Given the description of an element on the screen output the (x, y) to click on. 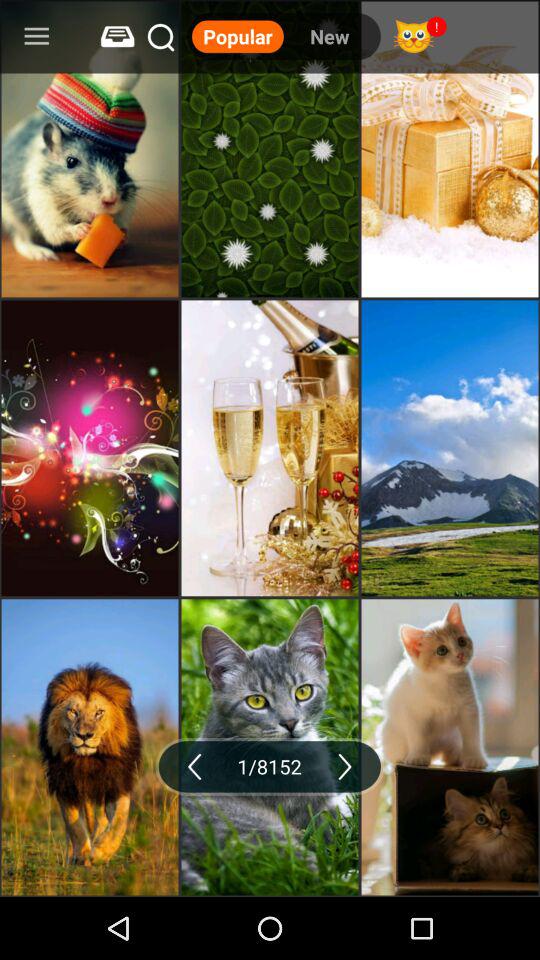
flip until the popular (237, 36)
